Given the description of an element on the screen output the (x, y) to click on. 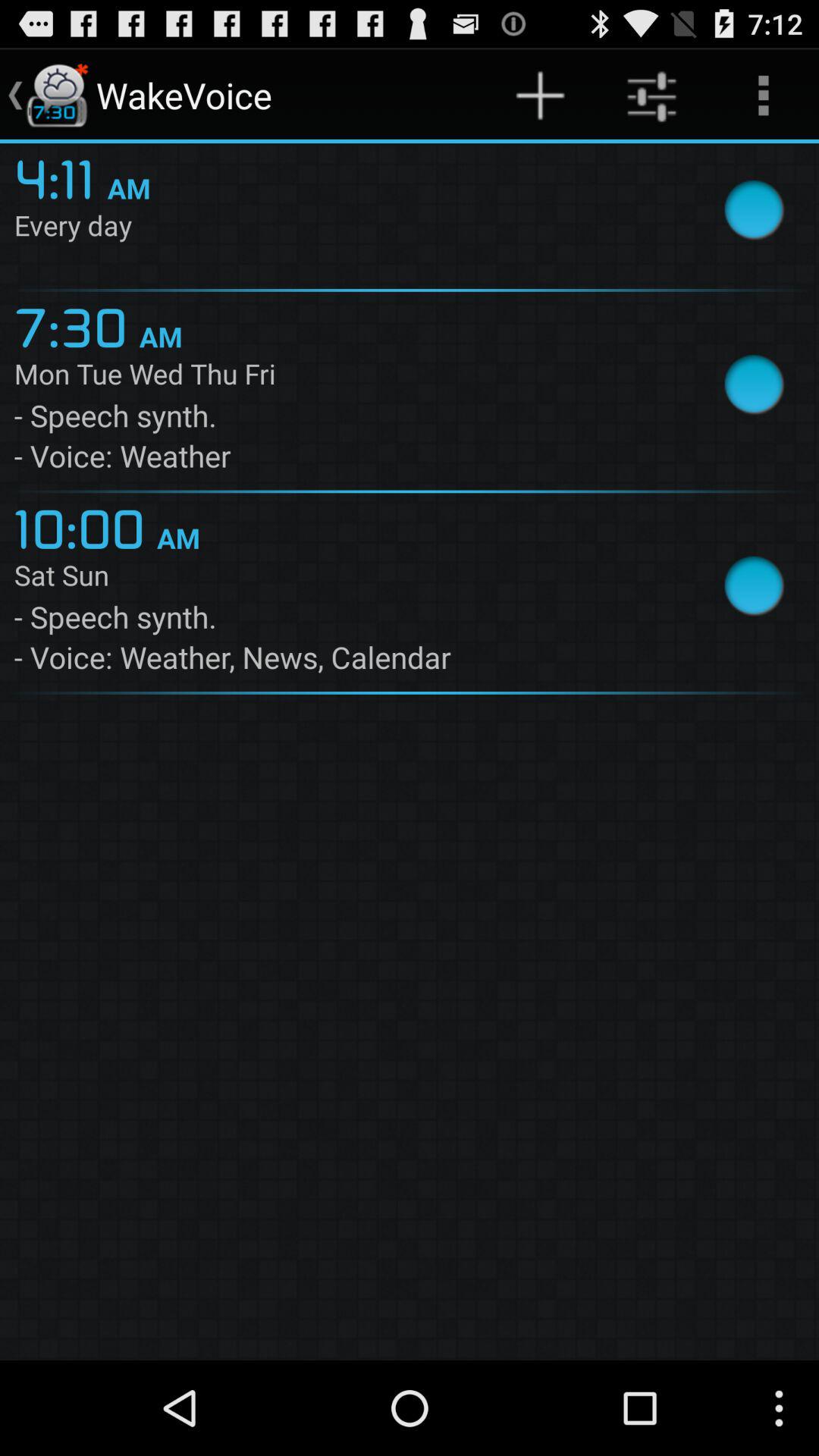
launch item below 7:30 icon (343, 376)
